Given the description of an element on the screen output the (x, y) to click on. 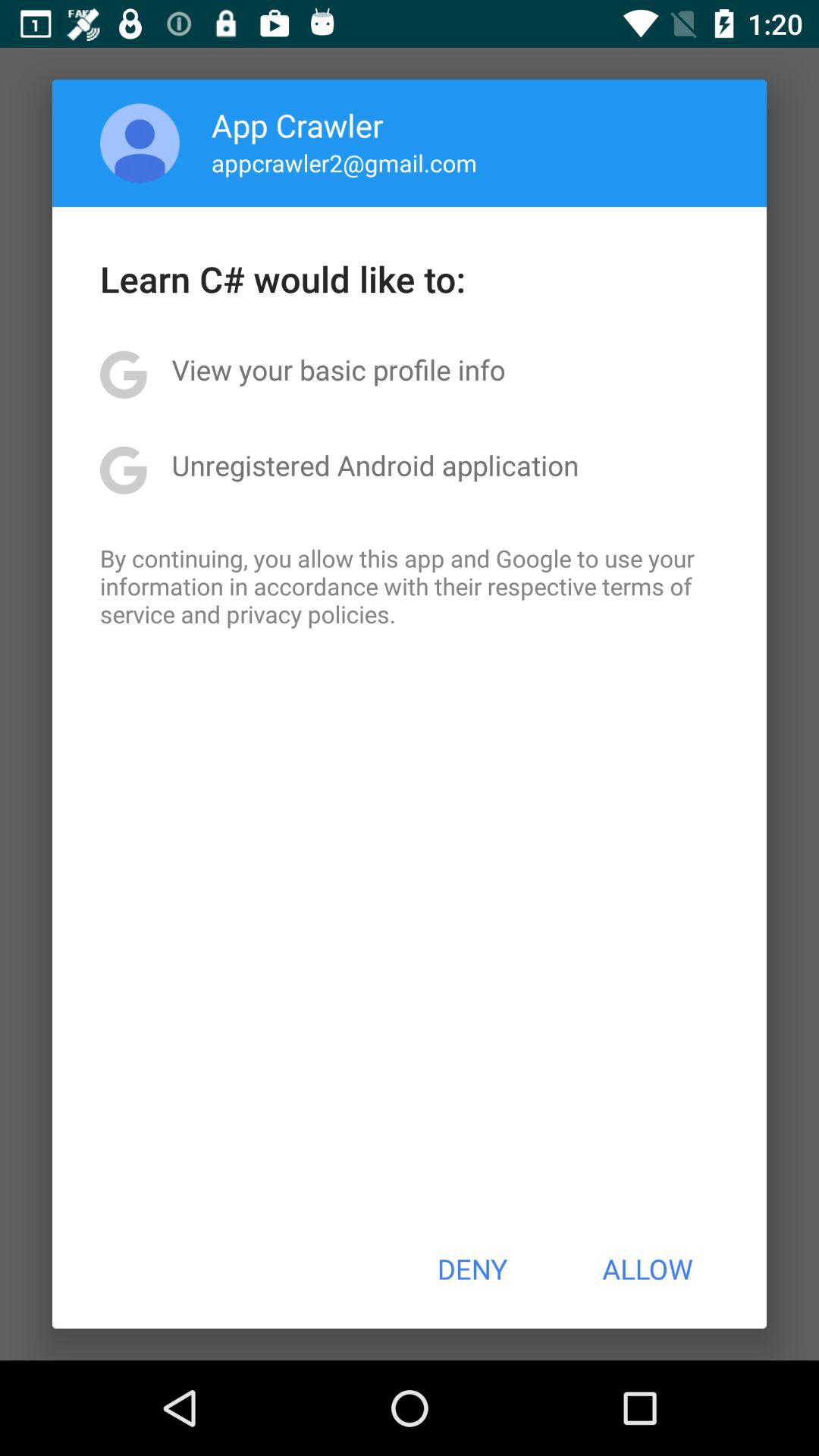
click the icon next to allow icon (471, 1268)
